Given the description of an element on the screen output the (x, y) to click on. 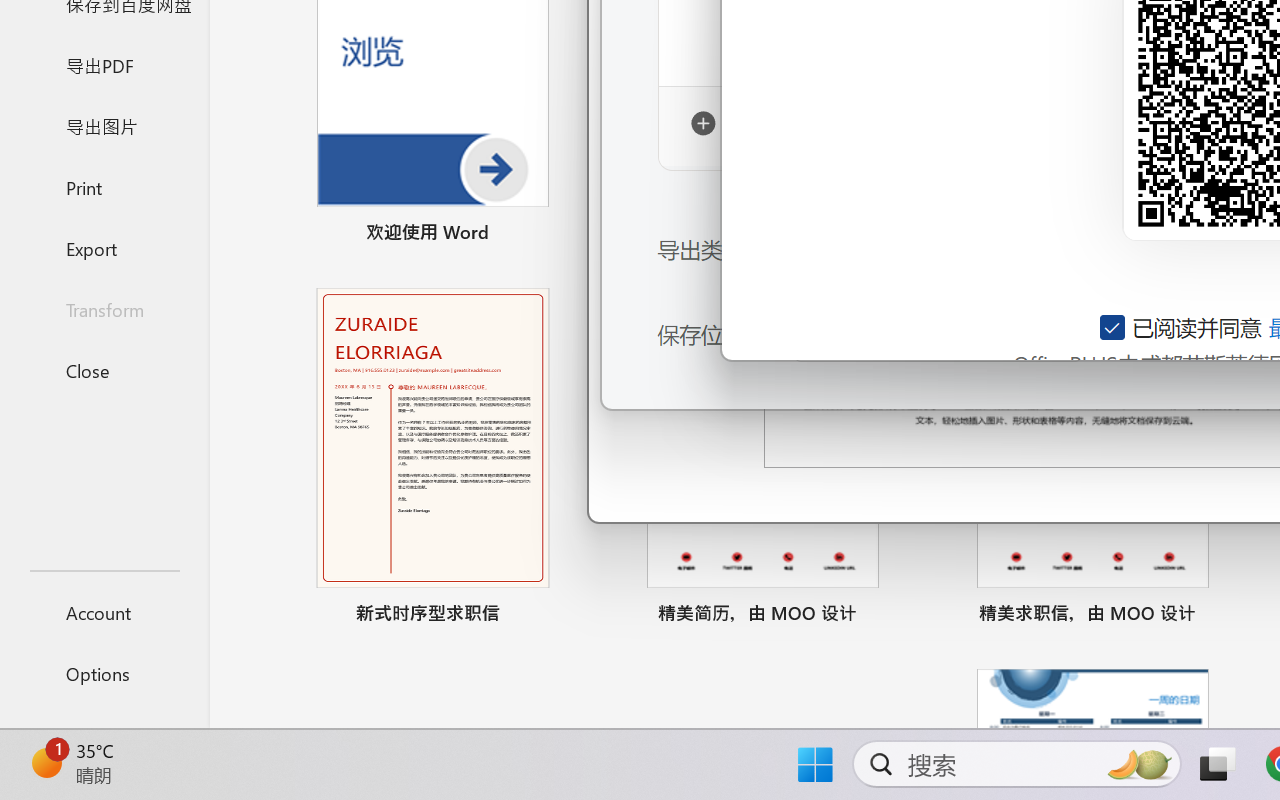
Export (104, 248)
Account (104, 612)
Print (104, 186)
Pin to list (1223, 616)
Options (104, 673)
